Given the description of an element on the screen output the (x, y) to click on. 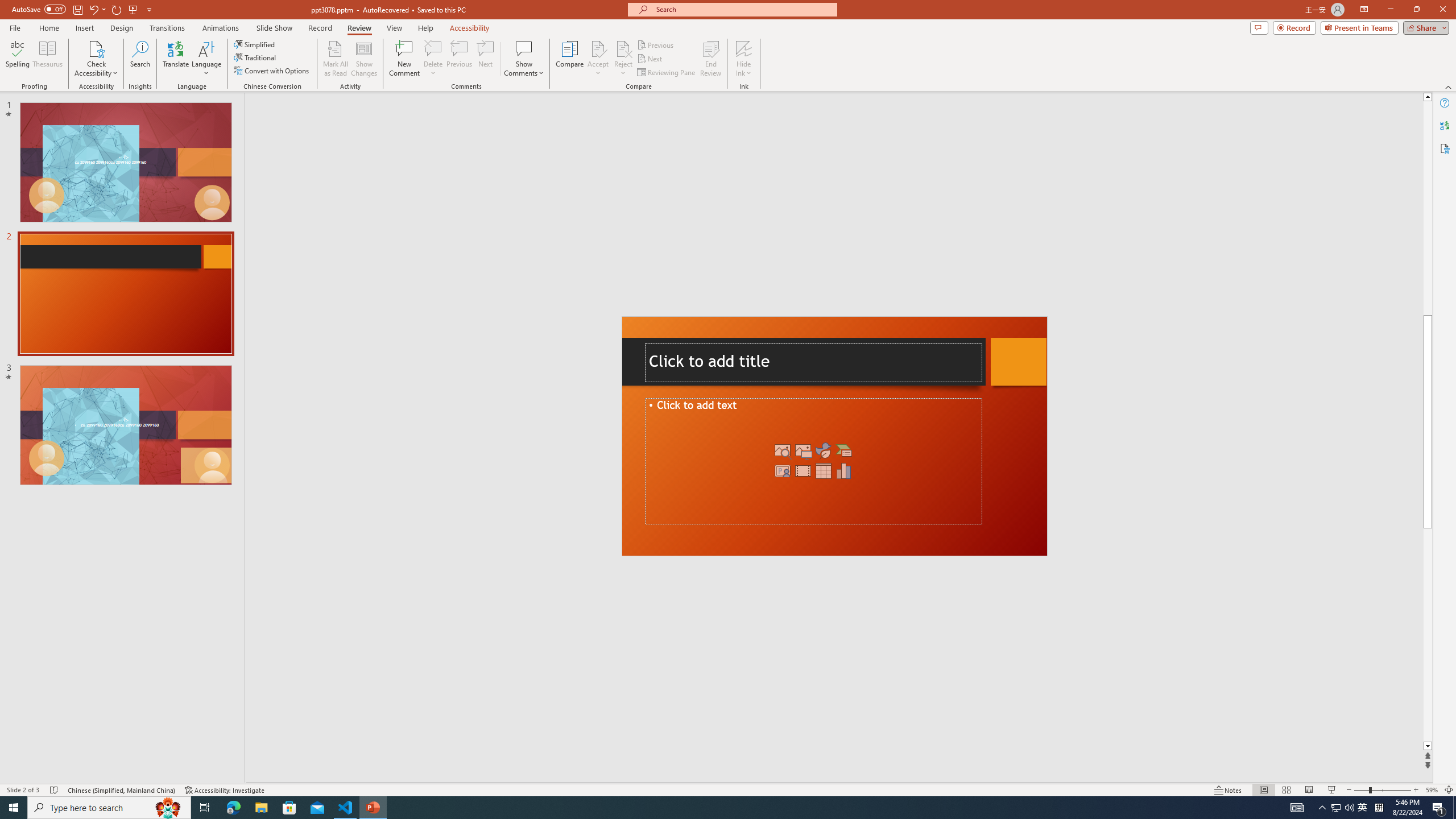
Translate (175, 58)
Traditional (255, 56)
Reject Change (622, 48)
